Given the description of an element on the screen output the (x, y) to click on. 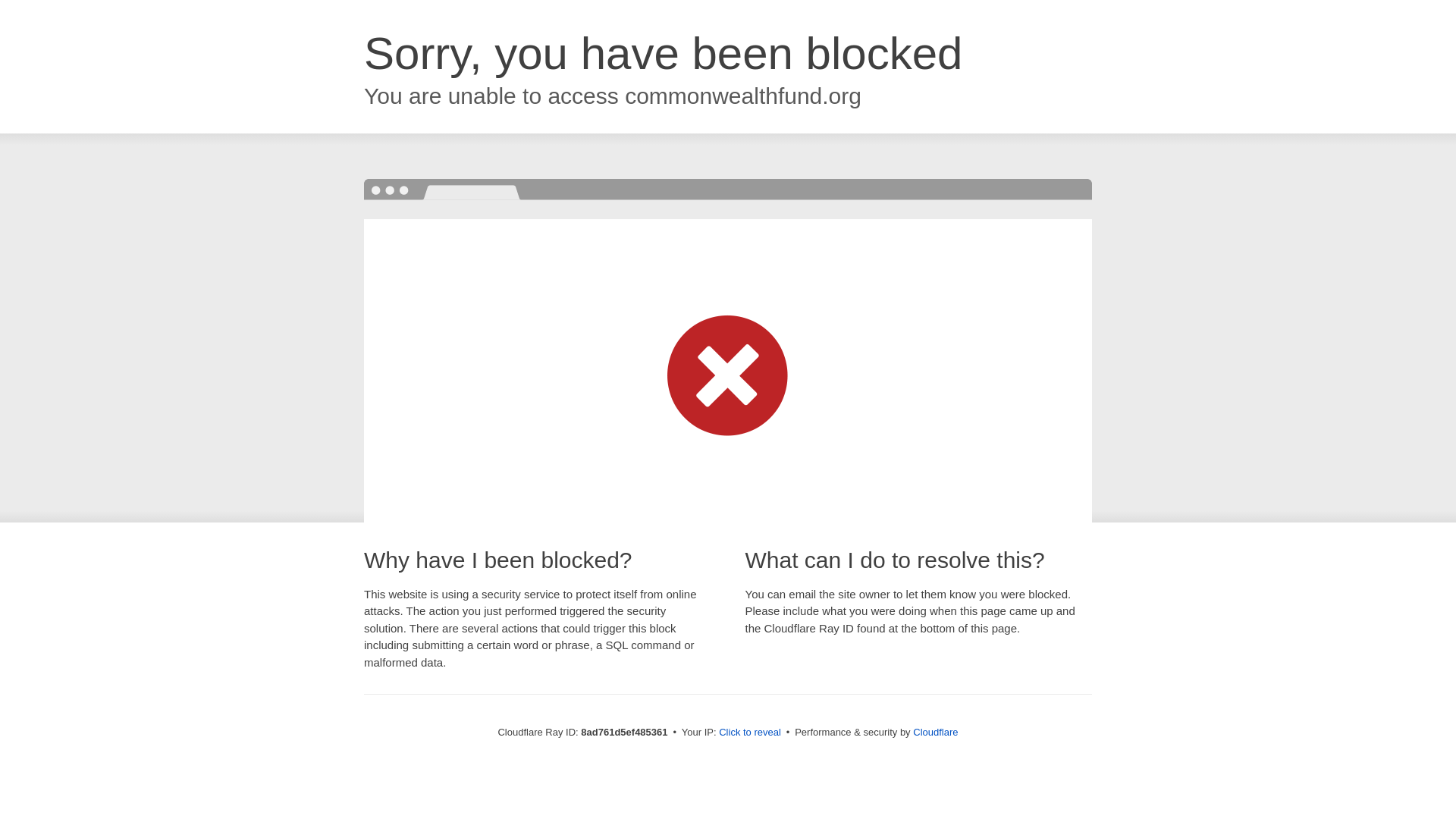
Cloudflare (935, 731)
Click to reveal (749, 732)
